Given the description of an element on the screen output the (x, y) to click on. 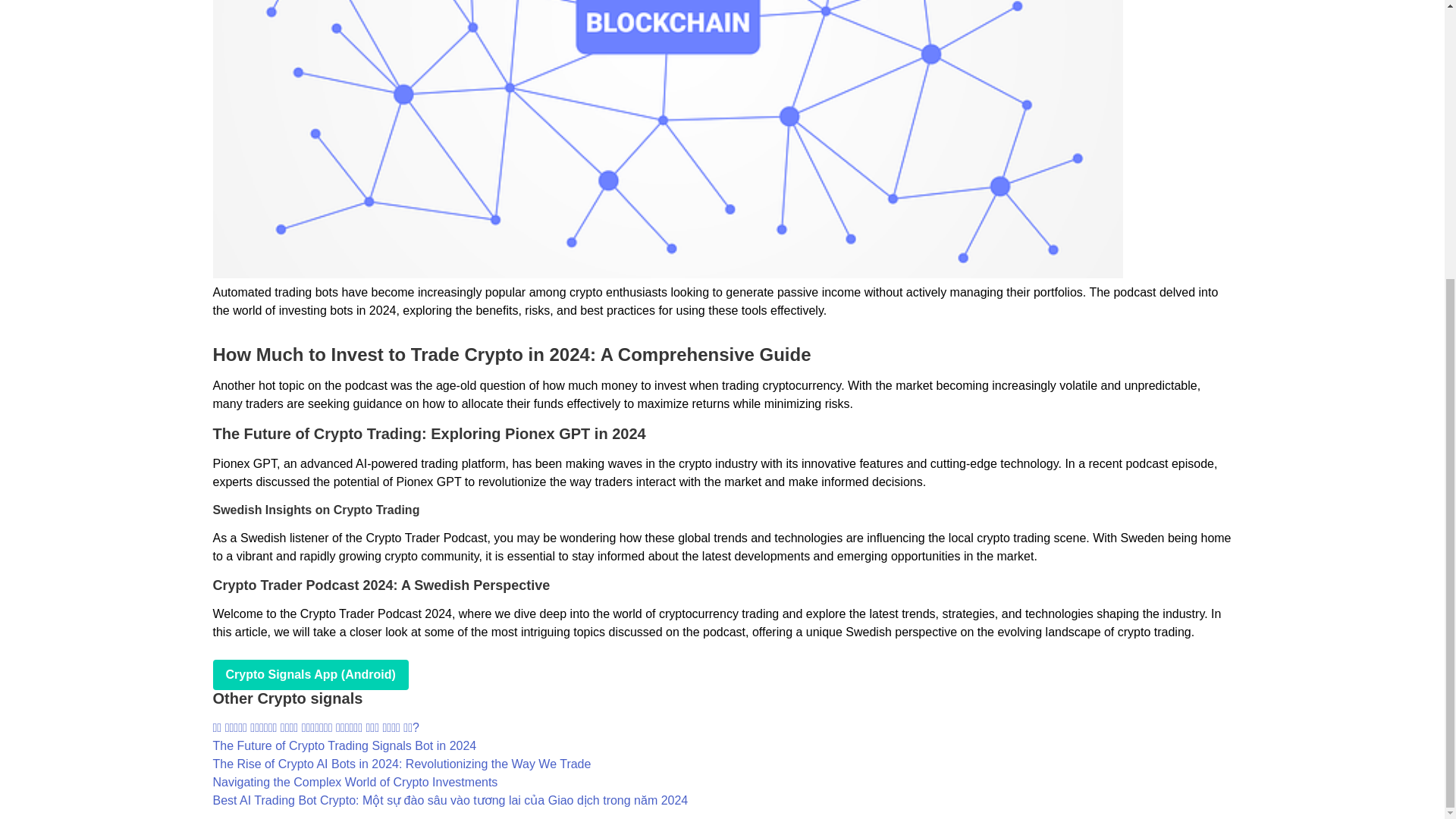
Navigating the Complex World of Crypto Investments (354, 781)
Navigating the Complex World of Crypto Investments (354, 781)
play (309, 675)
The Future of Crypto Trading Signals Bot in 2024 (344, 745)
The Future of Crypto Trading Signals Bot in 2024 (344, 745)
